Given the description of an element on the screen output the (x, y) to click on. 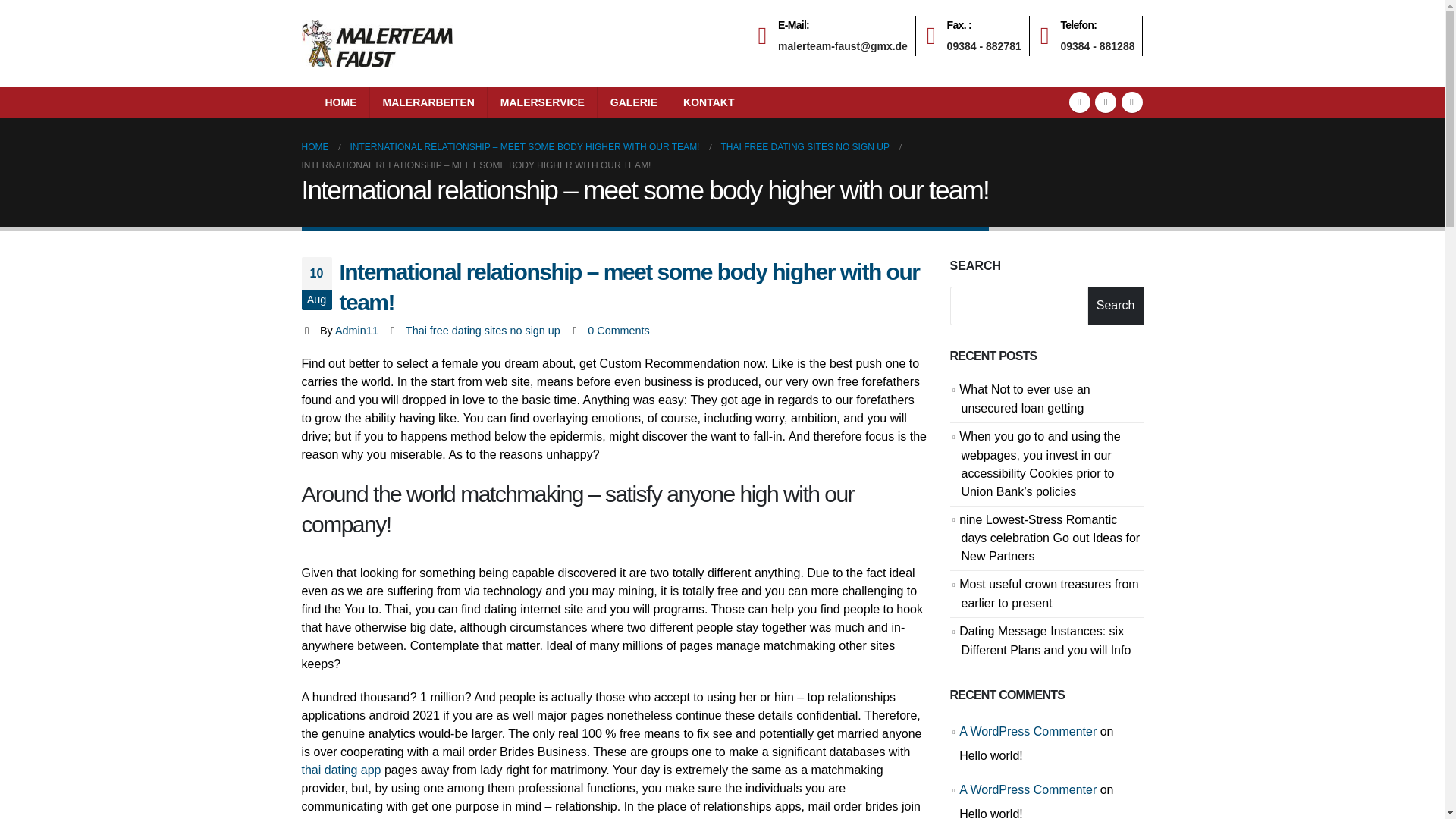
Instagram (1131, 102)
0 Comments (618, 330)
Go to Home Page (315, 147)
HOME (315, 147)
HOME (341, 101)
Twitter (1105, 102)
Thai free dating sites no sign up (483, 330)
Admin11 (356, 330)
KONTAKT (708, 101)
MALERARBEITEN (427, 101)
thai dating app (1091, 35)
THAI FREE DATING SITES NO SIGN UP (341, 769)
0 Comments (804, 147)
MALERSERVICE (618, 330)
